Given the description of an element on the screen output the (x, y) to click on. 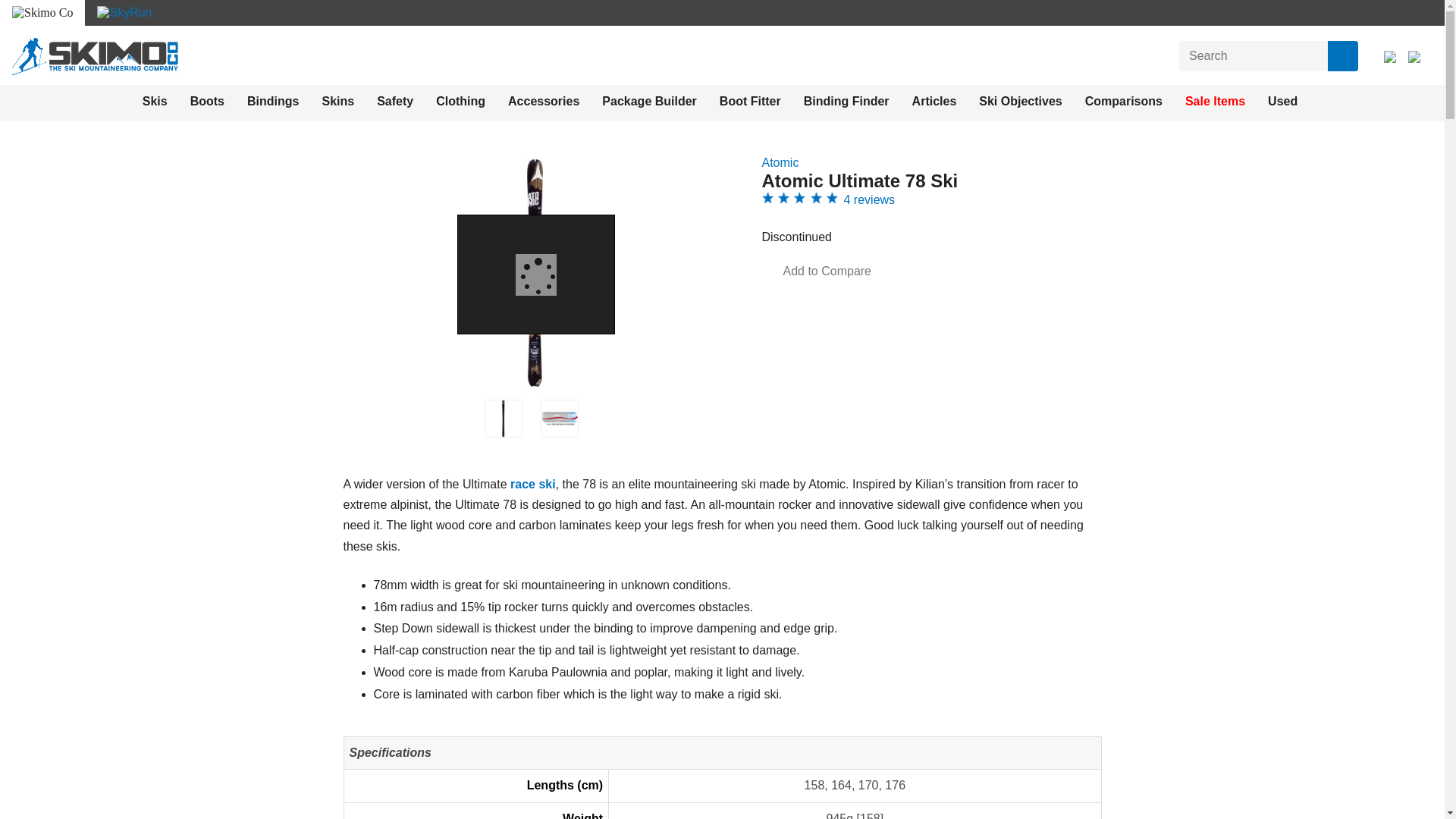
Skimo Co (94, 56)
Search (1342, 55)
Boots (207, 101)
Clothing (459, 101)
Atomic Ultimate 78 Ski (559, 418)
Skins (337, 101)
Safety (395, 101)
Atomic Ultimate 78 Ski (502, 418)
Atomic Ultimate 78 Ski (559, 418)
Bindings (272, 101)
Accessories (543, 101)
Skis (154, 101)
